Given the description of an element on the screen output the (x, y) to click on. 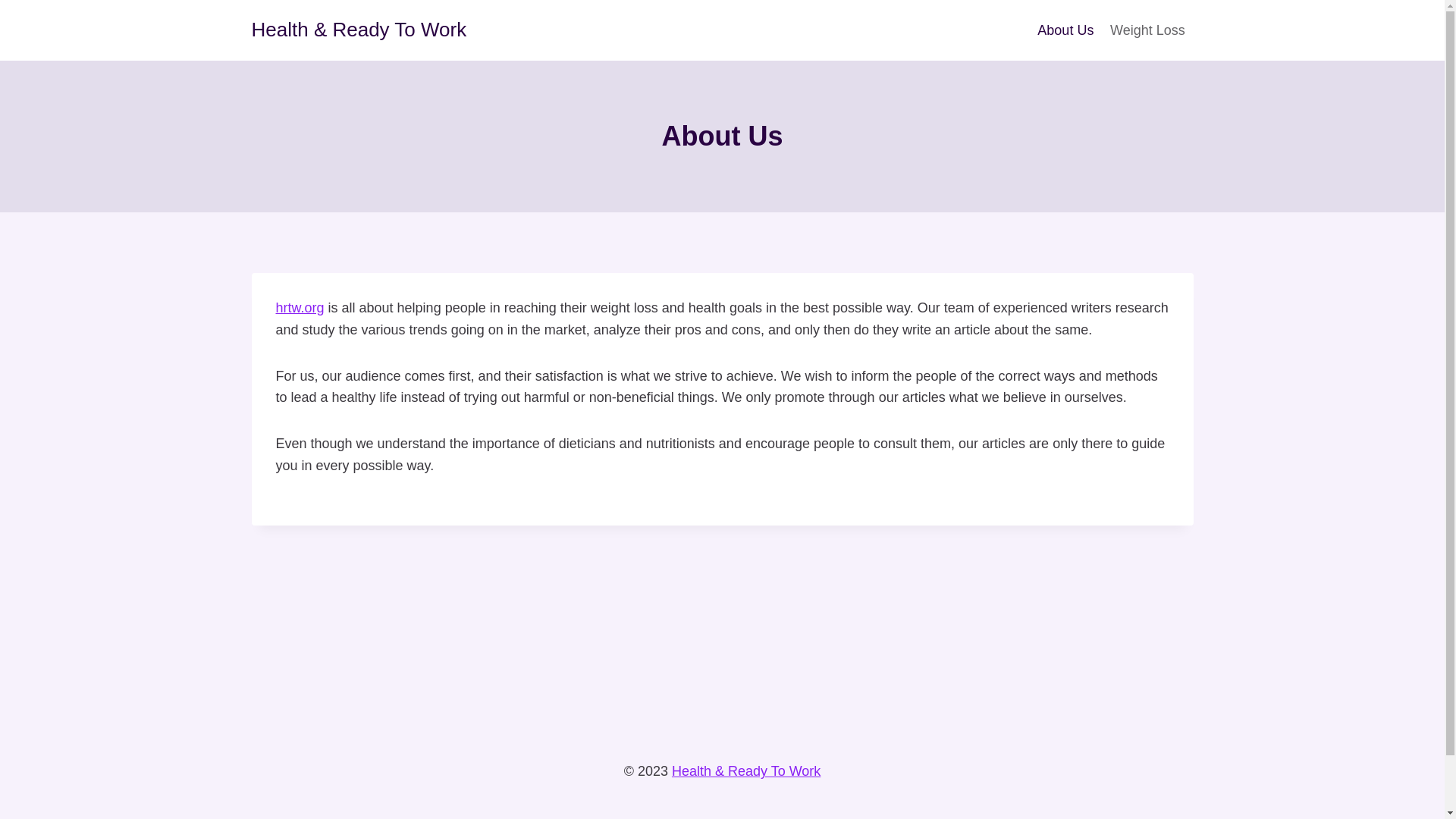
About Us (1065, 30)
Weight Loss (1147, 30)
hrtw.org (300, 307)
